Given the description of an element on the screen output the (x, y) to click on. 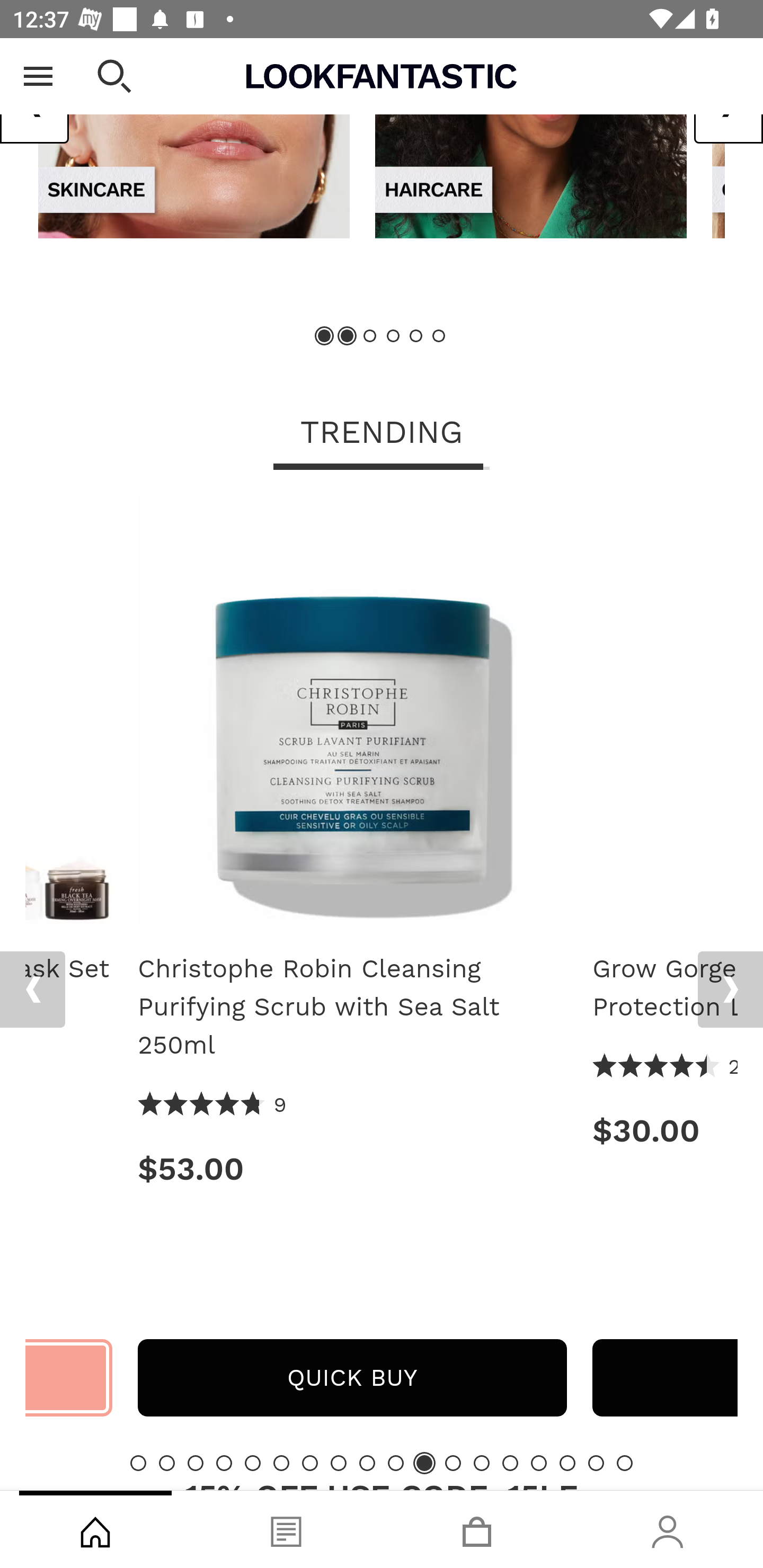
Previous (35, 104)
Showing Slide 1 (Current Item) (324, 336)
Showing Slide 2 (Current Item) (347, 336)
Slide 3 (369, 336)
Slide 4 (393, 336)
Slide 5 (415, 336)
Slide 6 (437, 336)
TRENDING (381, 433)
Previous (32, 989)
Next (730, 989)
4.5 Stars 2 Reviews (664, 1066)
MSRP: (Regular Retail Price) $89.70 (68, 1117)
4.78 Stars 9 Reviews (211, 1105)
Price: $30.00 (664, 1130)
Price: $53.00 (351, 1168)
Slide 1 (138, 1462)
Slide 2 (166, 1462)
Slide 3 (195, 1462)
Slide 4 (223, 1462)
Slide 5 (252, 1462)
Slide 6 (281, 1462)
Slide 7 (310, 1462)
Slide 8 (338, 1462)
Slide 9 (367, 1462)
Slide 10 (395, 1462)
Showing Slide 11 (Current Item) (424, 1462)
Slide 12 (452, 1462)
Slide 13 (481, 1462)
Slide 14 (510, 1462)
Slide 15 (539, 1462)
Slide 16 (567, 1462)
Slide 17 (596, 1462)
Slide 18 (624, 1462)
Shop, tab, 1 of 4 (95, 1529)
Blog, tab, 2 of 4 (285, 1529)
Basket, tab, 3 of 4 (476, 1529)
Account, tab, 4 of 4 (667, 1529)
